Given the description of an element on the screen output the (x, y) to click on. 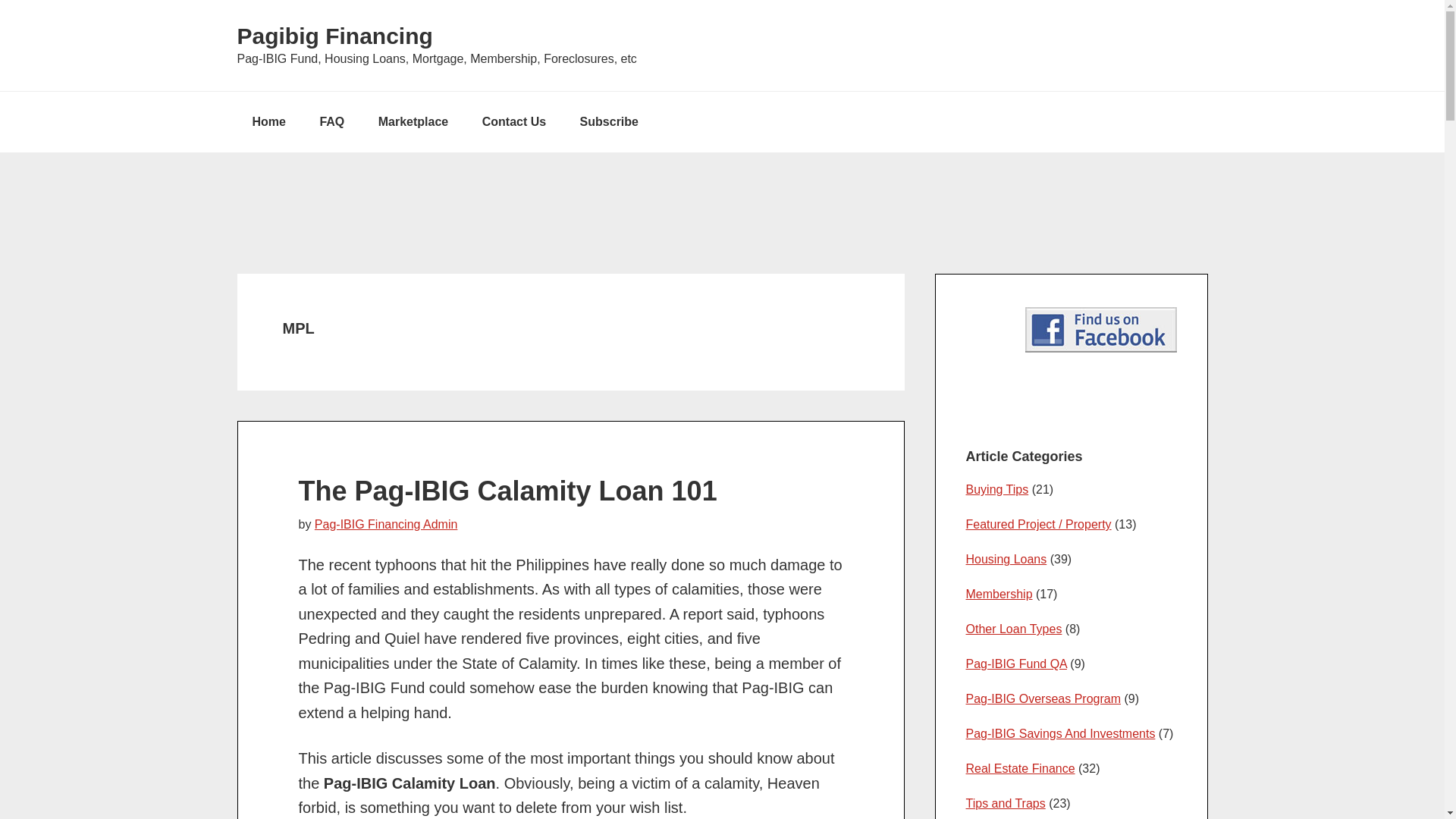
FAQ (331, 121)
Pagibig Financing (333, 35)
Subscribe (608, 121)
Marketplace (413, 121)
Home (267, 121)
Pag-IBIG Financing Admin (386, 523)
The Pag-IBIG Calamity Loan 101 (507, 490)
Contact Us (513, 121)
